Given the description of an element on the screen output the (x, y) to click on. 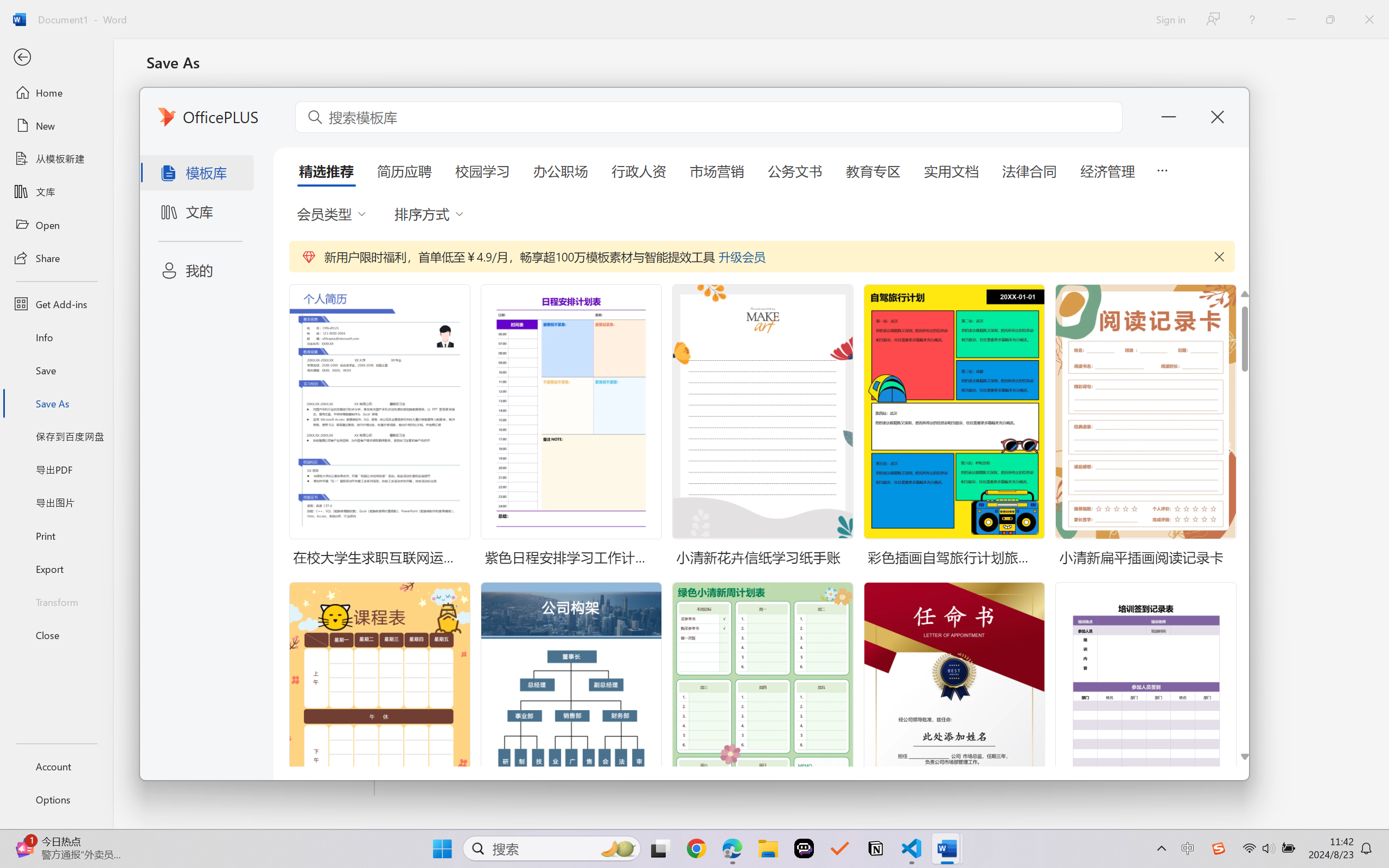
Save As (56, 403)
Account (56, 765)
